Given the description of an element on the screen output the (x, y) to click on. 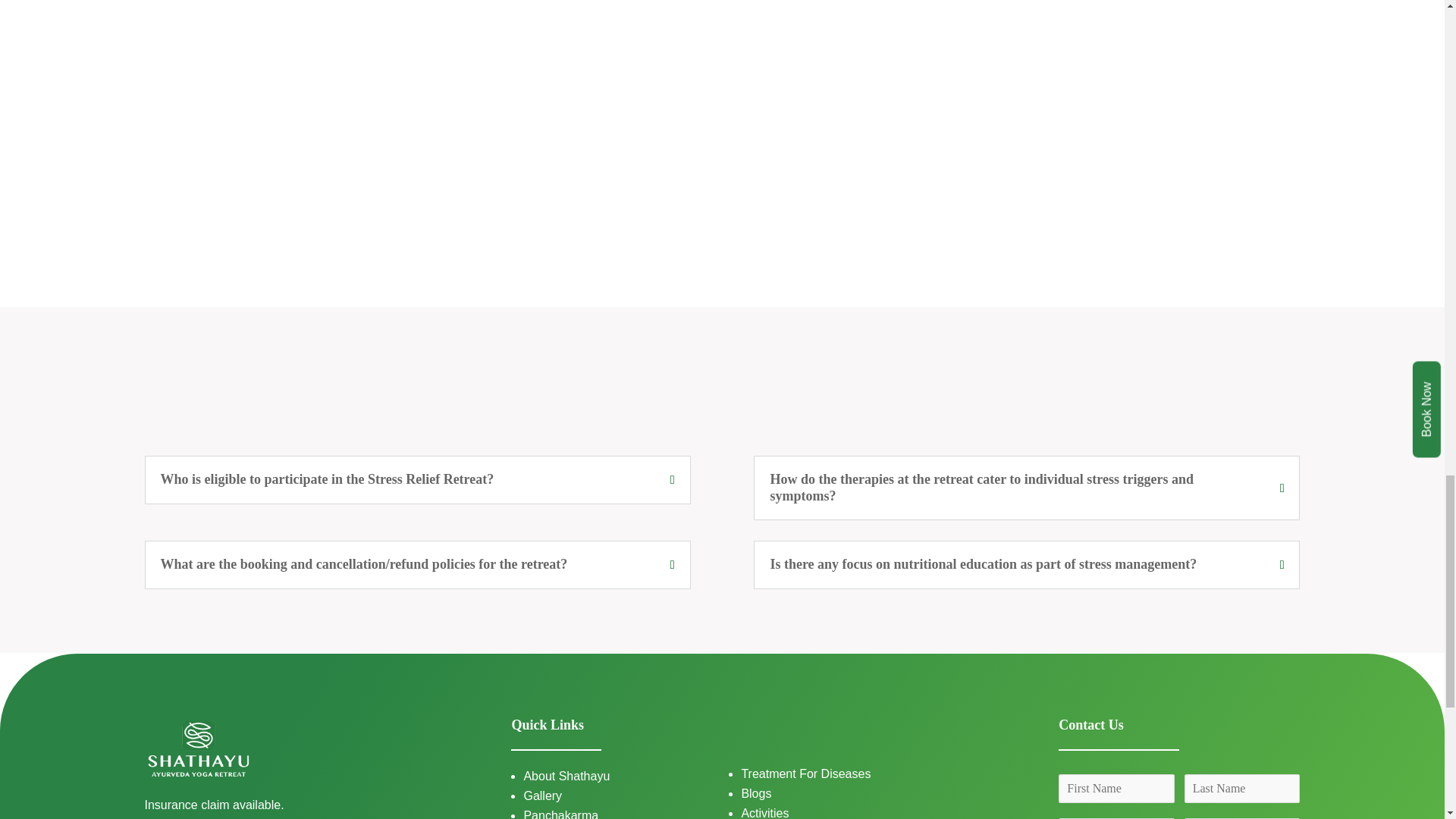
Shathayu-Retreat-Logo (197, 748)
